Given the description of an element on the screen output the (x, y) to click on. 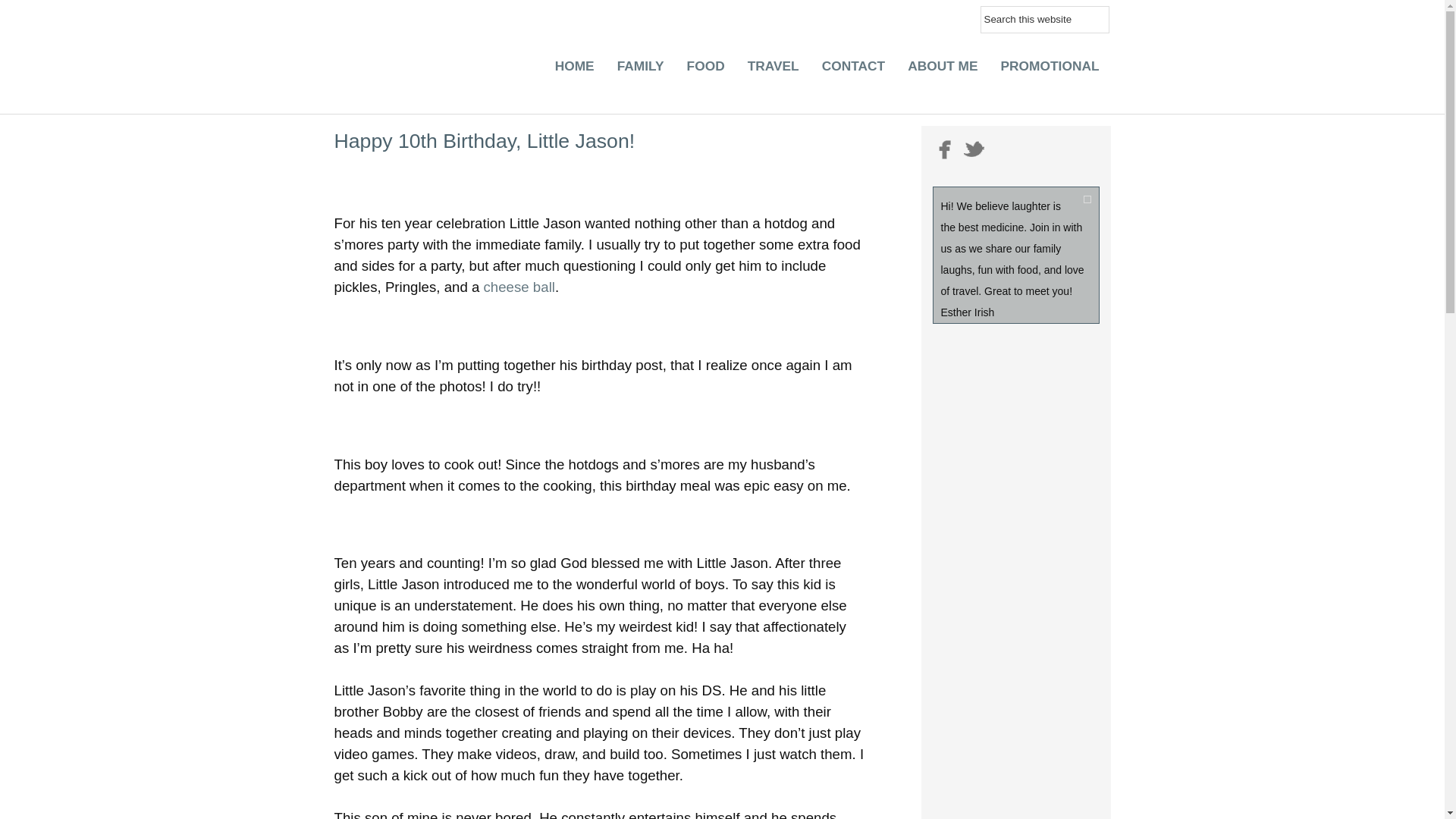
CONTACT (853, 69)
FOOD (705, 69)
PROMOTIONAL (1050, 69)
HOME (574, 69)
TRAVEL (773, 69)
FAMILY (640, 69)
cheese ball (518, 286)
